Given the description of an element on the screen output the (x, y) to click on. 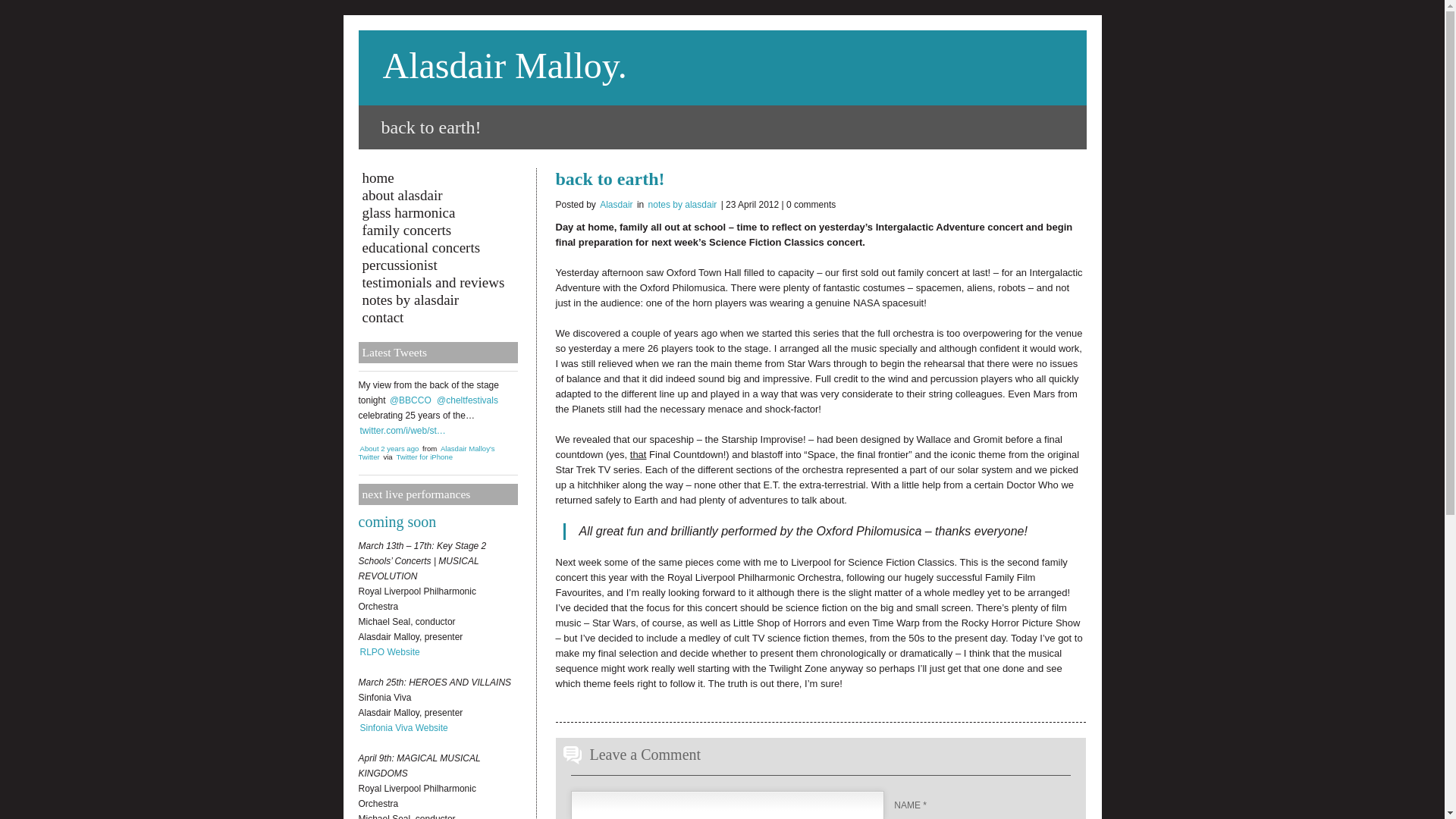
Twitter for iPhone (424, 456)
Alasdair Malloy's Twitter (426, 452)
educational concerts (437, 247)
home (437, 177)
family concerts (437, 229)
contact (437, 317)
testimonials and reviews (437, 282)
about alasdair (437, 195)
Cheltenham Festivals (467, 399)
BBC Concert Orchestra (410, 399)
About 2 years ago (389, 448)
notes by alasdair (437, 299)
Alasdair Malloy. (503, 65)
percussionist (437, 264)
glass harmonica (437, 212)
